Given the description of an element on the screen output the (x, y) to click on. 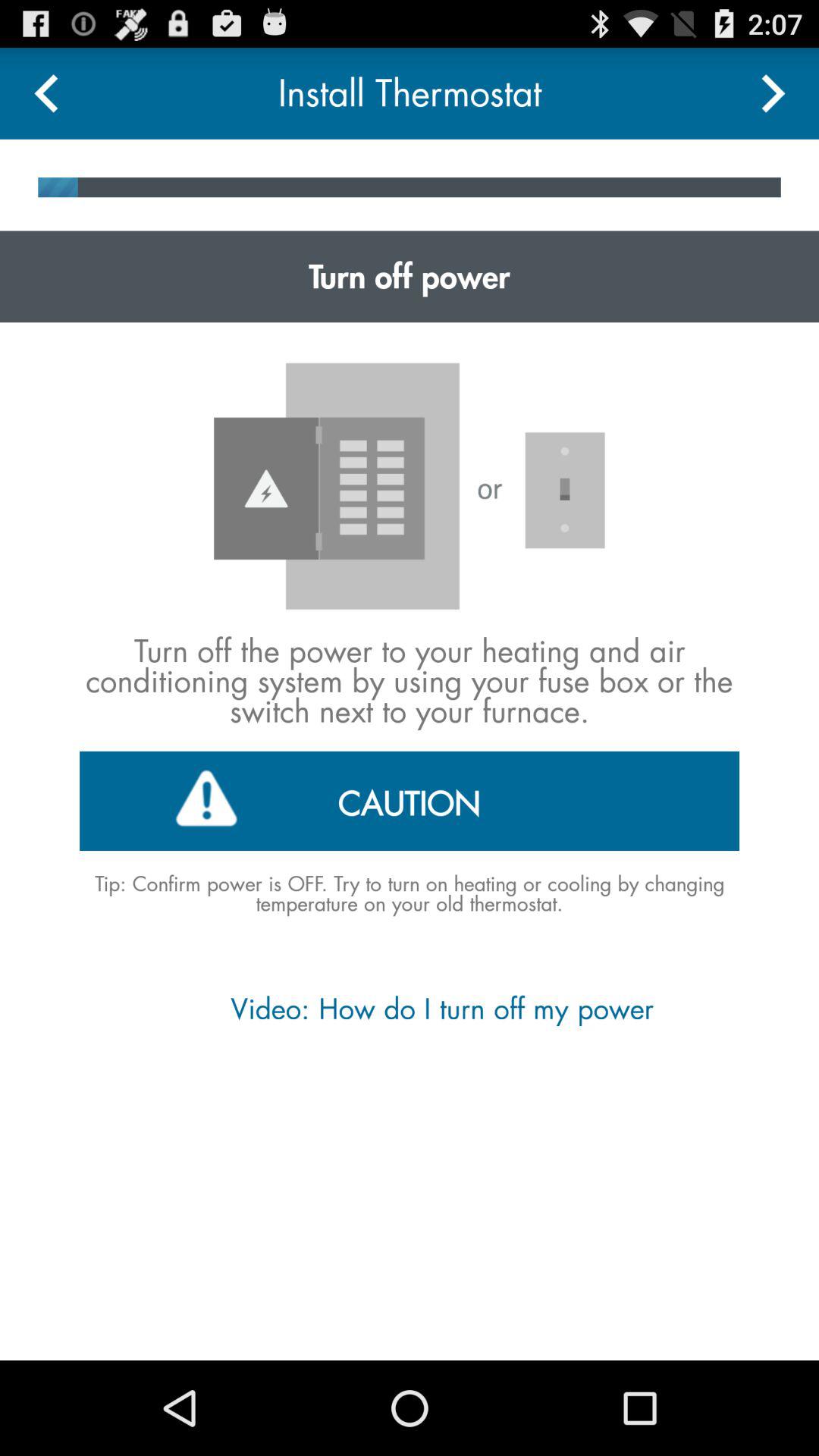
select video how do app (408, 1008)
